Given the description of an element on the screen output the (x, y) to click on. 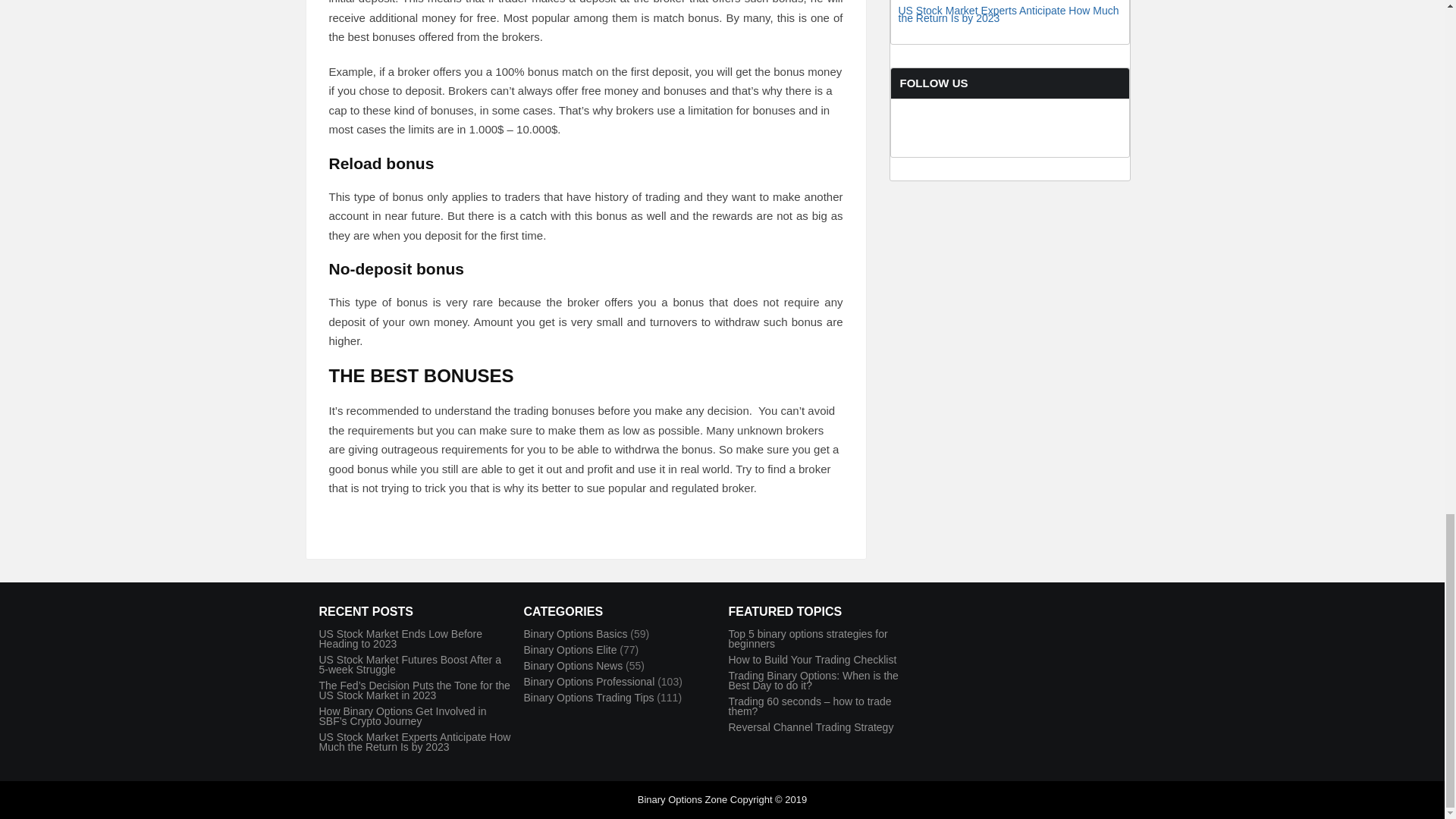
Follow us on Twitter (984, 148)
Follow us on Facebook (926, 148)
